Given the description of an element on the screen output the (x, y) to click on. 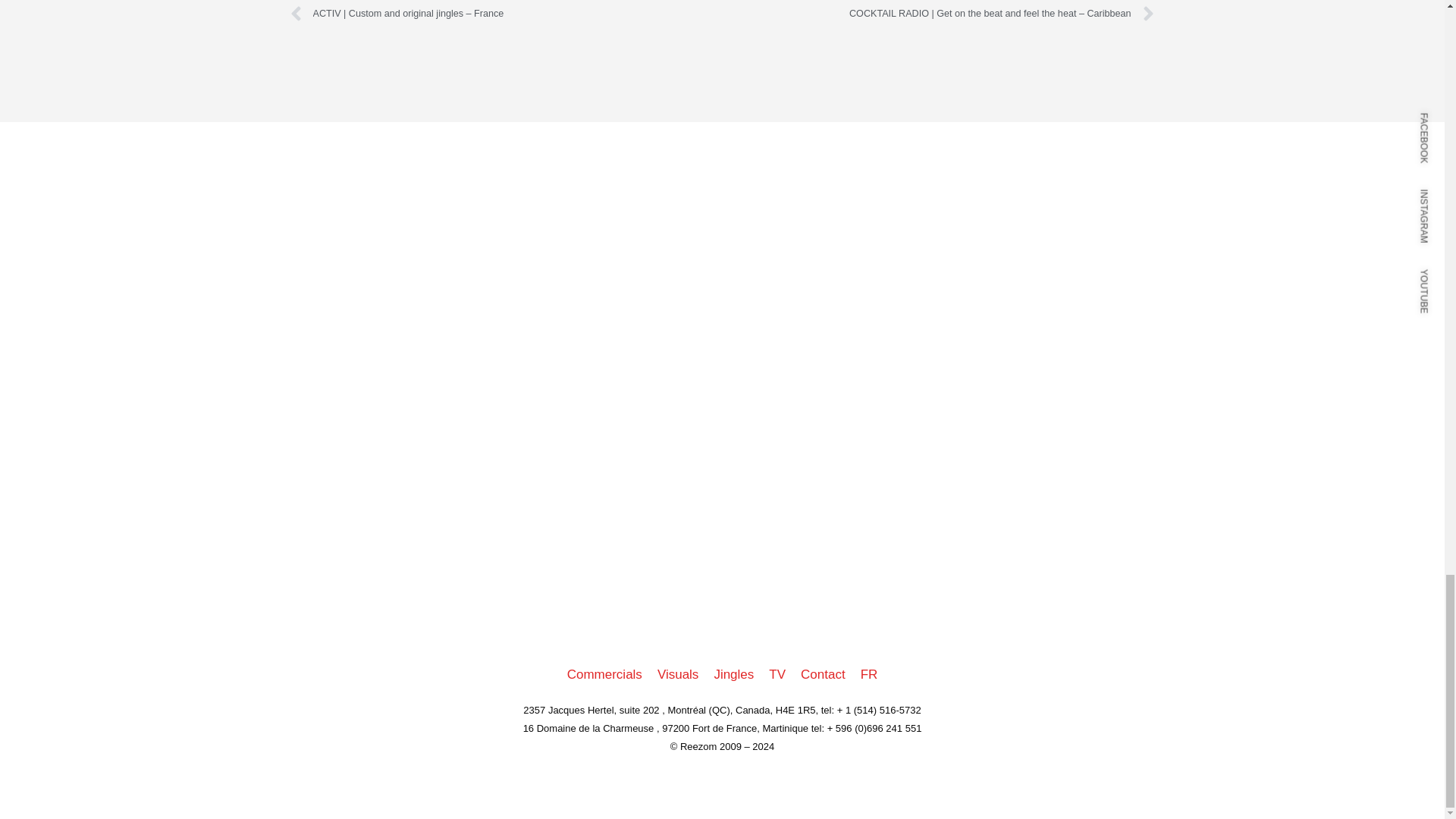
TV (777, 674)
FR (869, 674)
Visuals (677, 674)
Contact (823, 674)
Jingles (733, 674)
Commercials (604, 674)
